Given the description of an element on the screen output the (x, y) to click on. 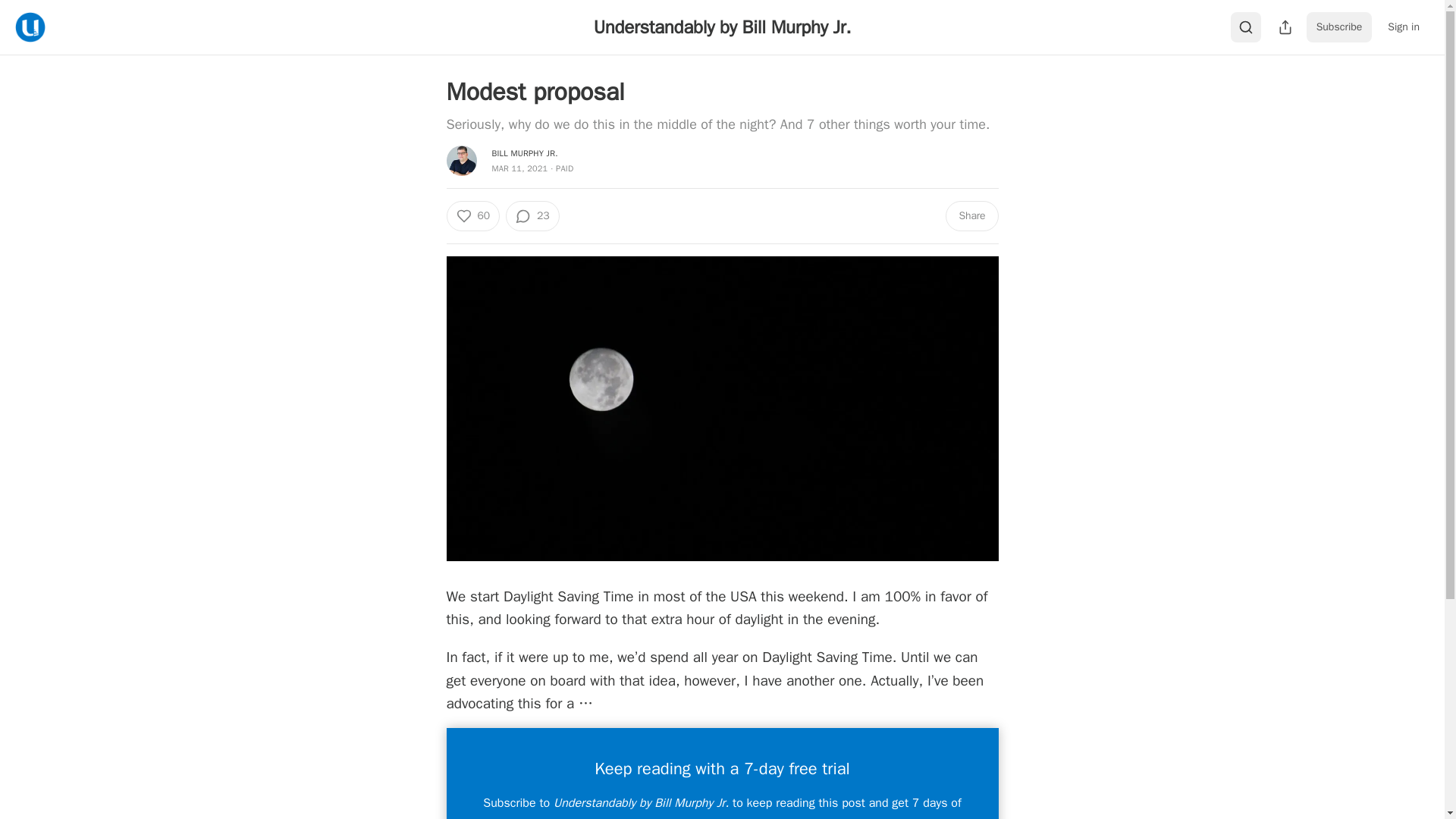
Share (970, 215)
Understandably by Bill Murphy Jr. (722, 26)
23 (532, 215)
60 (472, 215)
Subscribe (1339, 27)
BILL MURPHY JR. (524, 153)
Sign in (1403, 27)
